Given the description of an element on the screen output the (x, y) to click on. 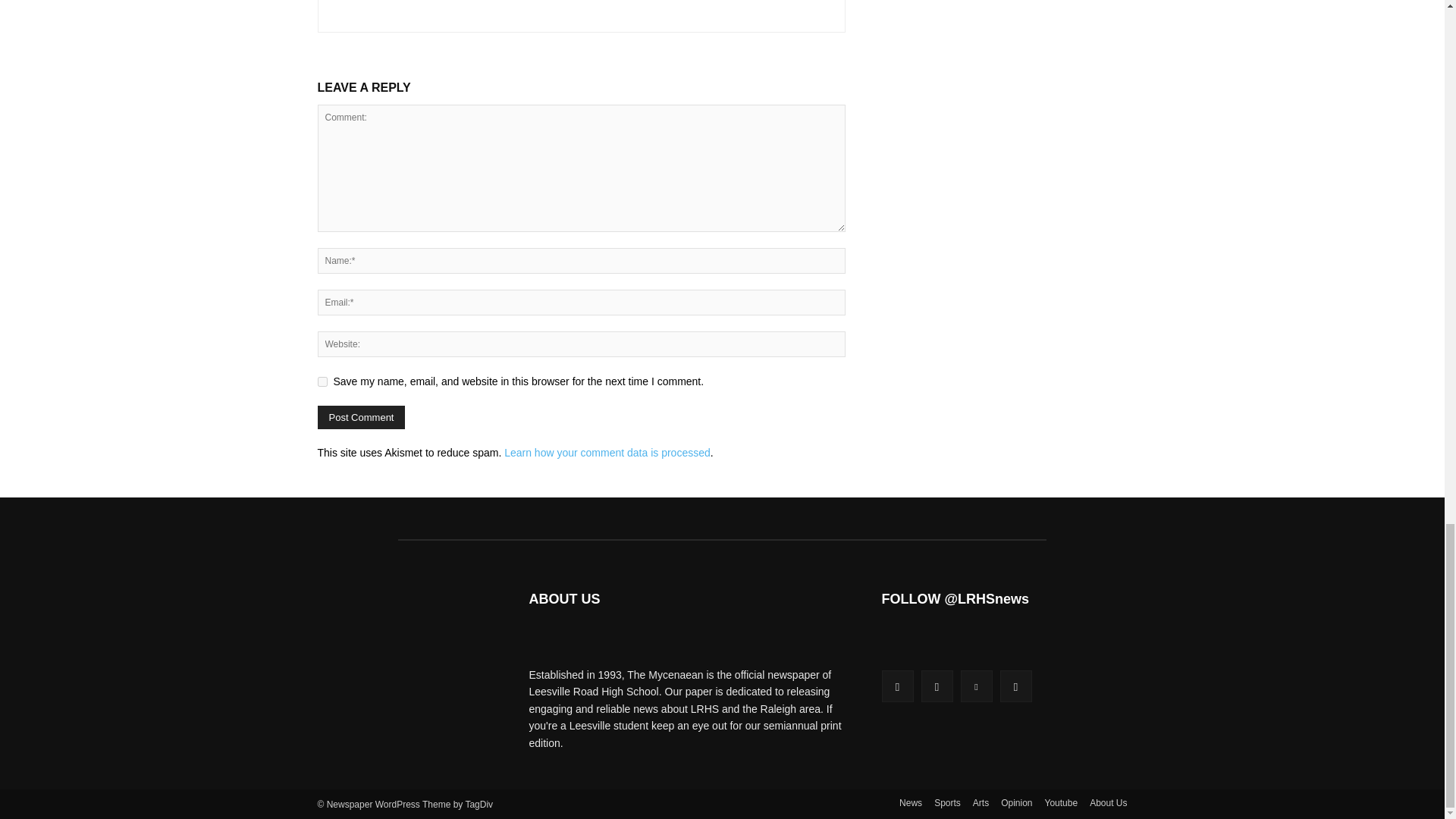
yes (321, 381)
Post Comment (360, 417)
